Given the description of an element on the screen output the (x, y) to click on. 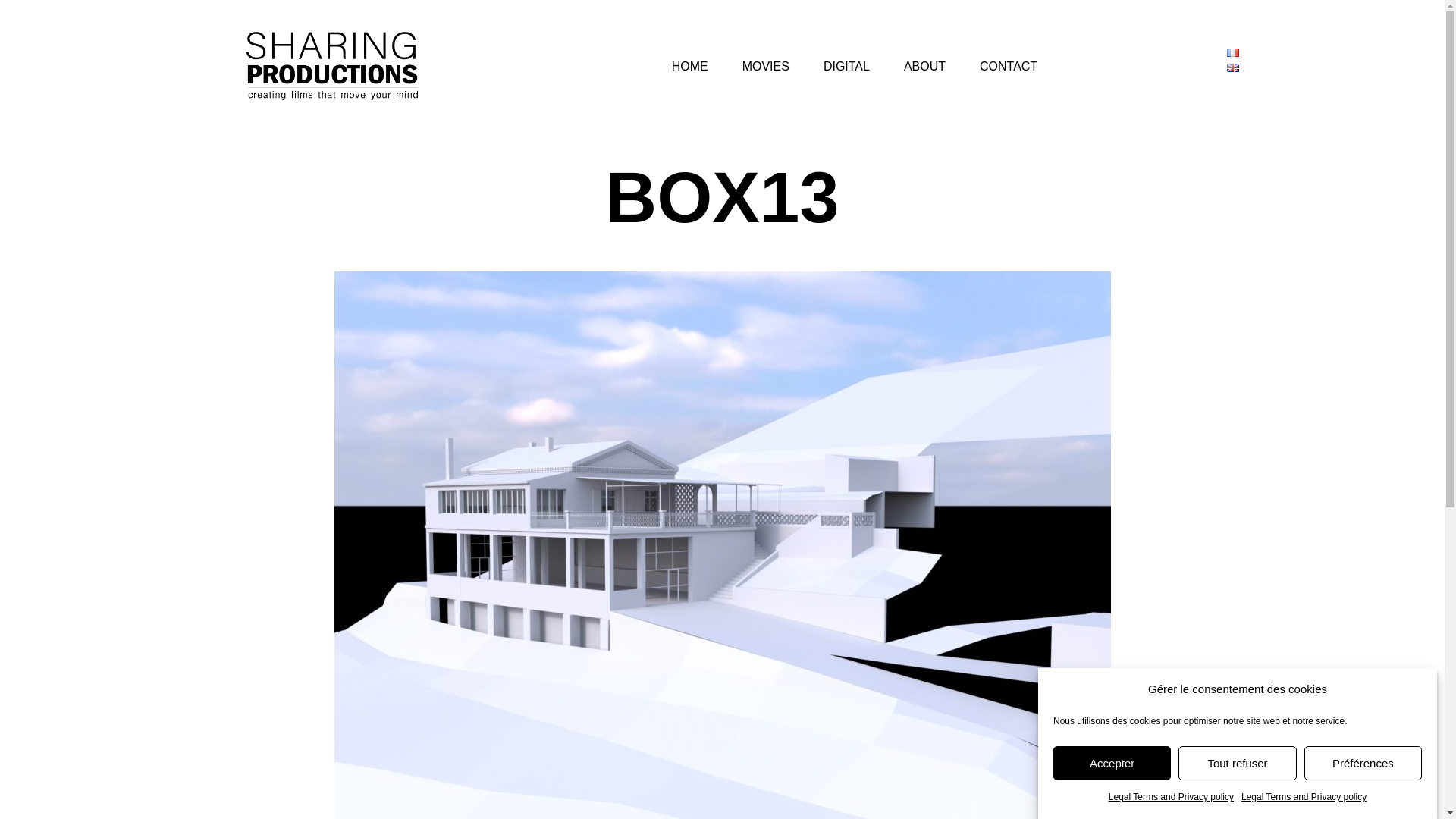
DIGITAL (846, 66)
MOVIES (765, 66)
HOME (690, 66)
ABOUT (924, 66)
CONTACT (1008, 66)
